Given the description of an element on the screen output the (x, y) to click on. 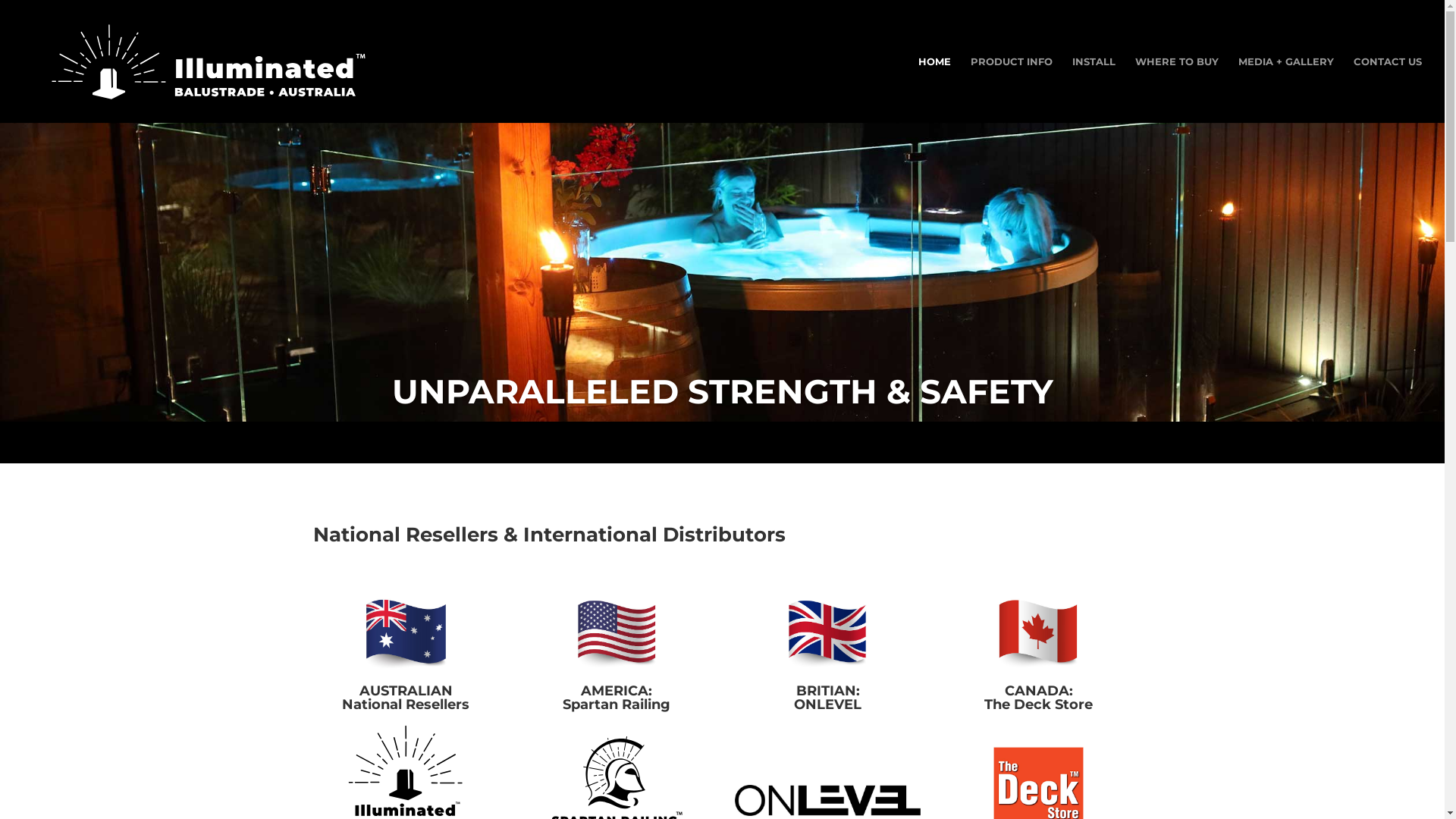
INSTALL Element type: text (1093, 89)
on-level-logo-iba Element type: hover (827, 799)
PRODUCT INFO Element type: text (1011, 89)
america-flag-IBA Element type: hover (616, 634)
MEDIA + GALLERY Element type: text (1285, 89)
UK-flag-IBA Element type: hover (827, 634)
WHERE TO BUY Element type: text (1176, 89)
CONTACT US Element type: text (1387, 89)
canada-flag-IBA Element type: hover (1038, 634)
australia-flag-IBA Element type: hover (405, 634)
HOME Element type: text (934, 89)
